Given the description of an element on the screen output the (x, y) to click on. 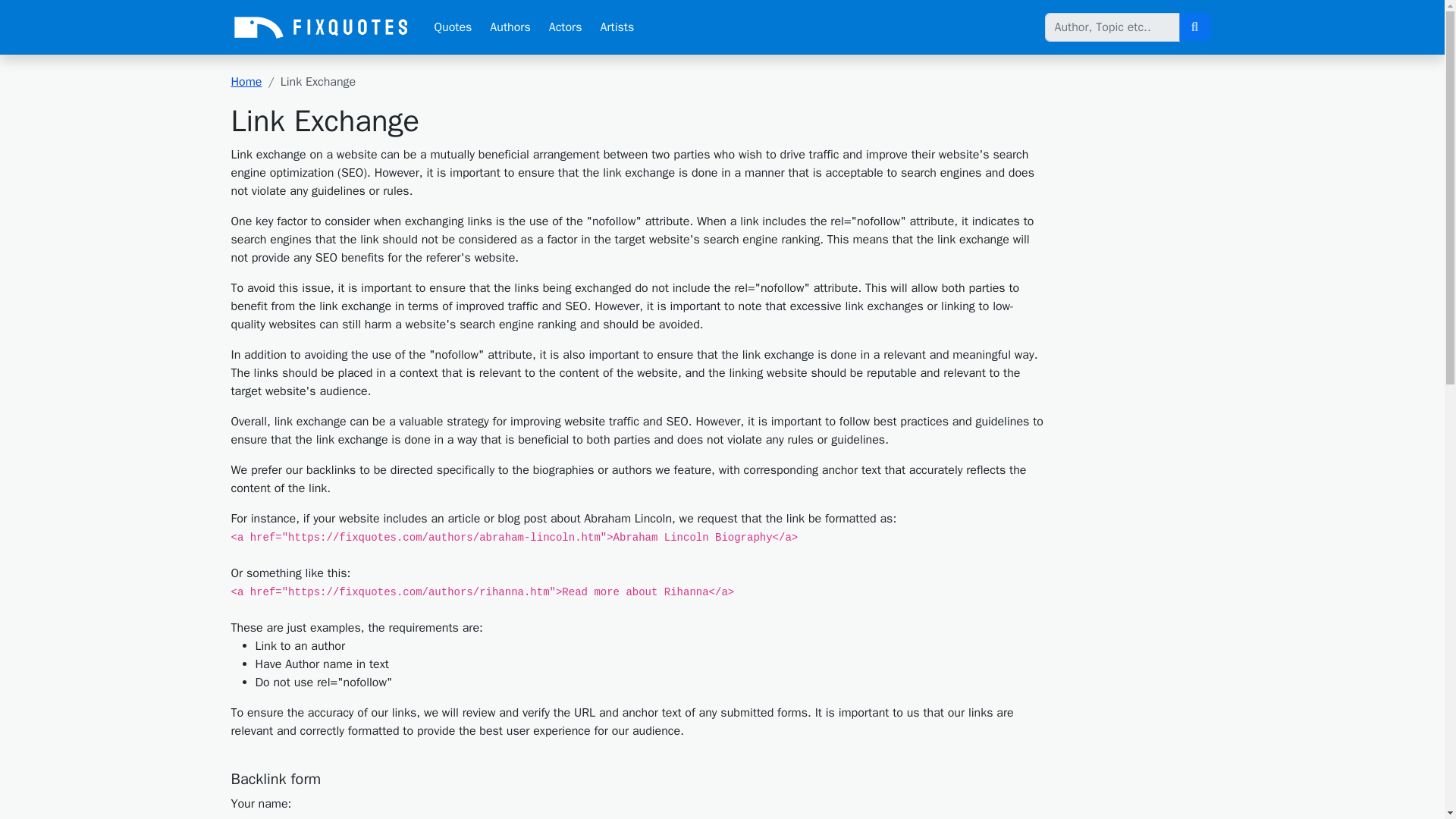
Click to search (1193, 26)
Artists (617, 27)
Authors (509, 27)
Actors (565, 27)
Quotes (452, 27)
Home (246, 81)
